Given the description of an element on the screen output the (x, y) to click on. 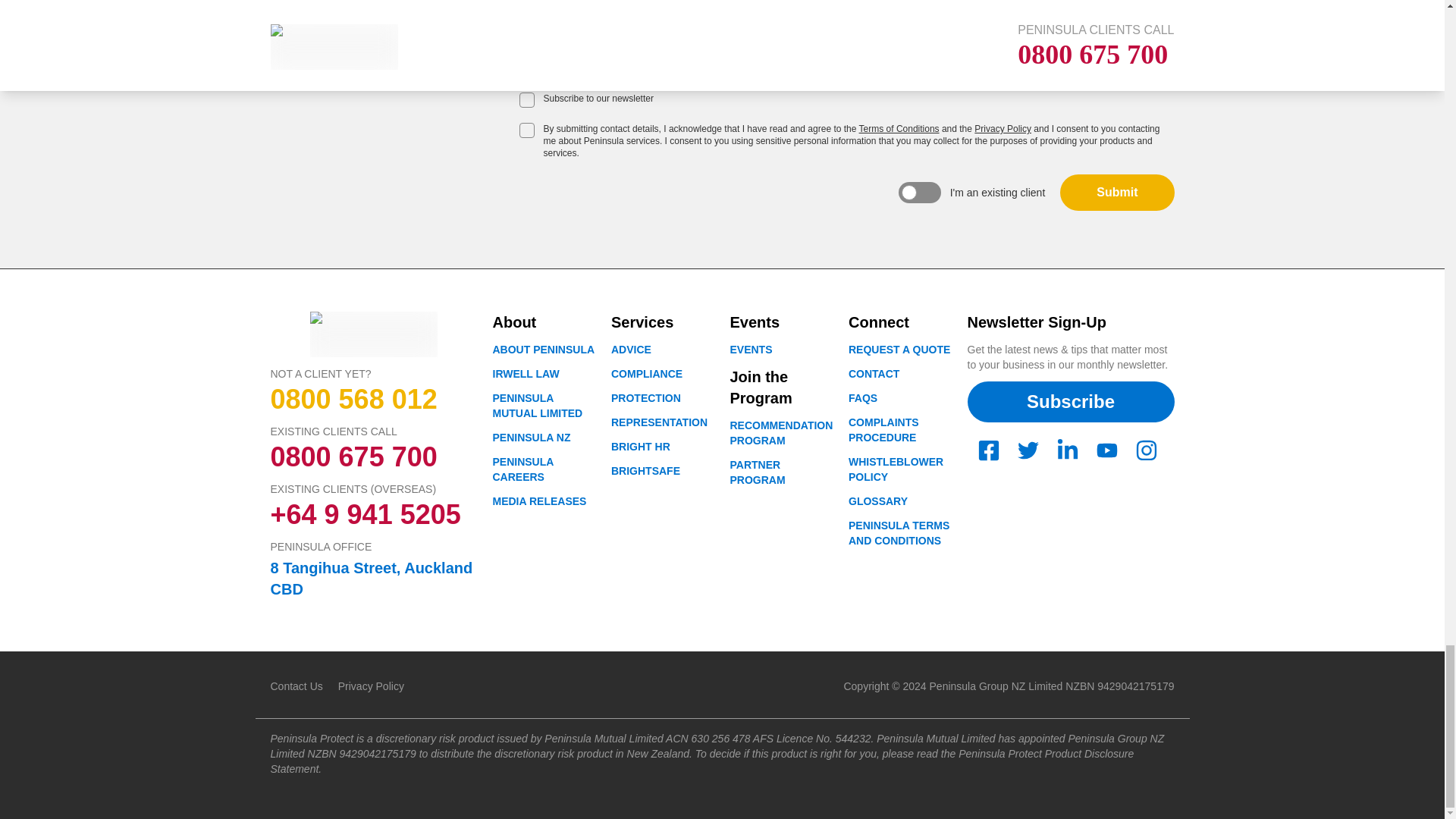
Peninsula Representation Services (659, 422)
About Peninsula (544, 349)
Employment Relations Adice (630, 349)
Peninsula Compliance Support (646, 373)
Contact Peninsula (873, 373)
Irwell Law (526, 373)
BrightSafe (645, 470)
Peninsula Protection Services (646, 398)
About Peninsula (899, 349)
Peninsula (531, 437)
